Given the description of an element on the screen output the (x, y) to click on. 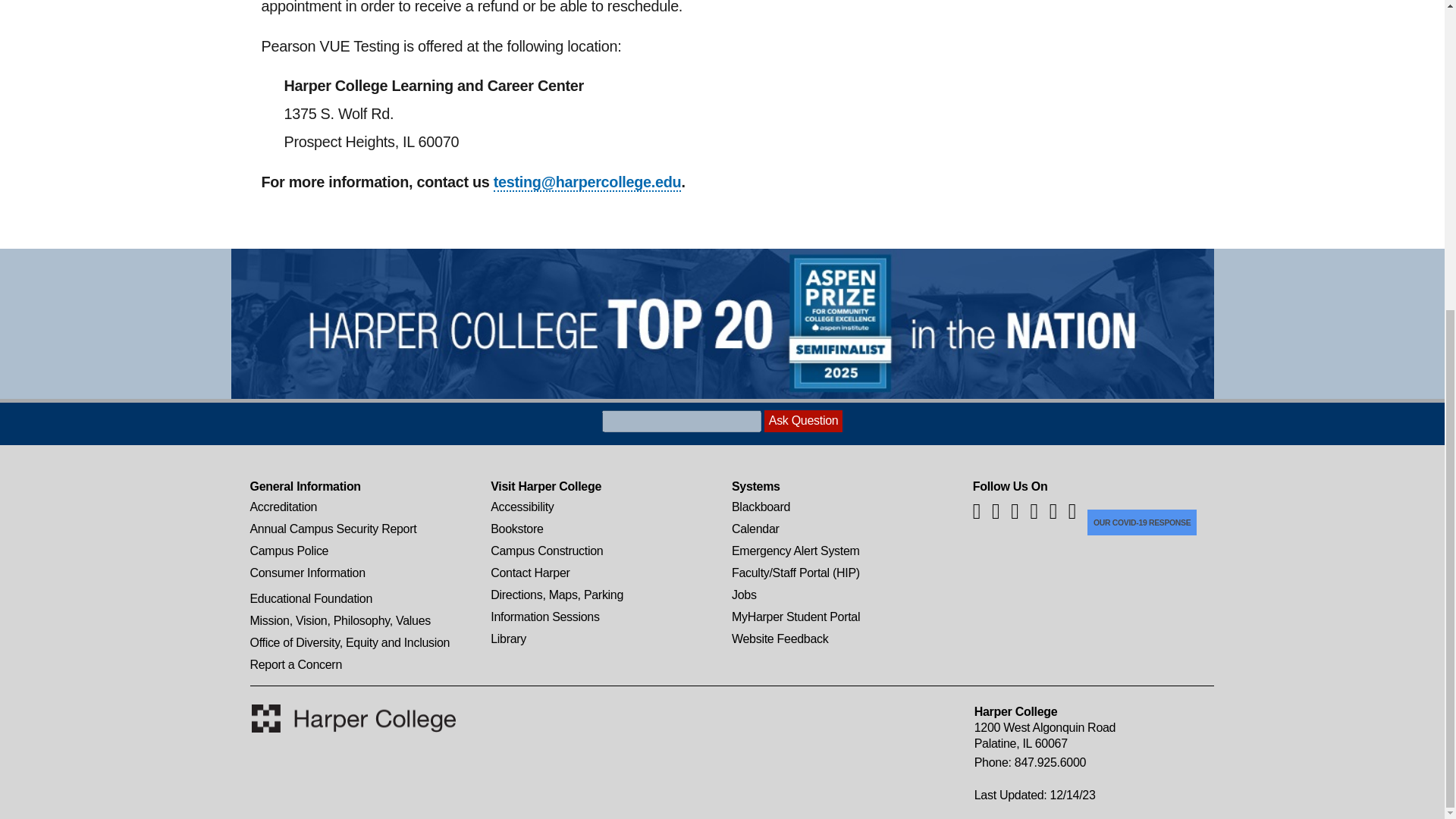
Harper Home Page (353, 717)
Ask Question (803, 421)
